Given the description of an element on the screen output the (x, y) to click on. 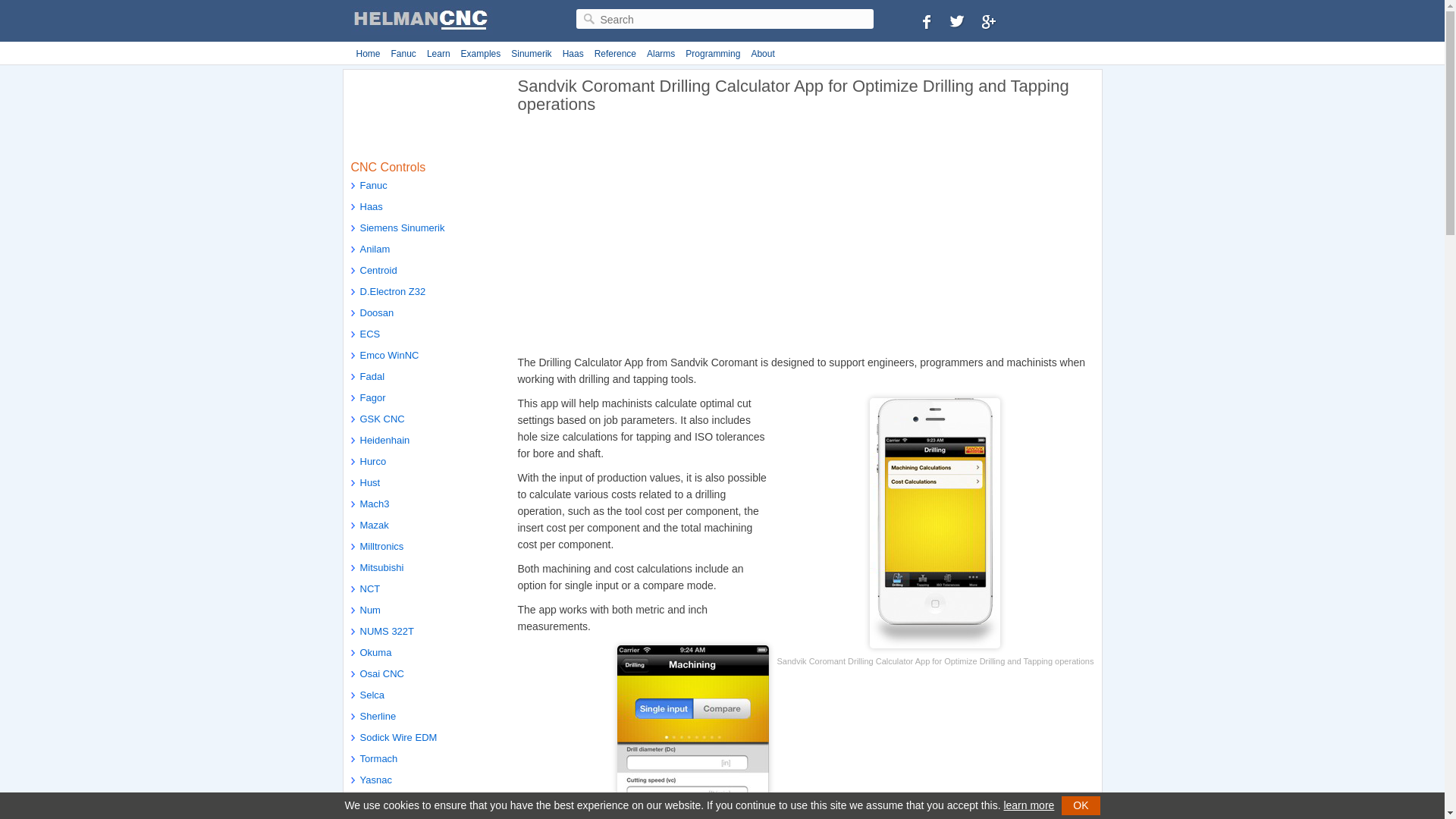
Mazak (426, 526)
Milltronics (426, 547)
Alarms (660, 54)
Selca (426, 696)
Doosan (426, 314)
Fagor (426, 399)
Centroid (426, 271)
Fanuc (426, 187)
Siemens Sinumerik (426, 229)
Num (426, 611)
Heidenhain (426, 441)
Sinumerik (530, 54)
Mitsubishi (426, 568)
NCT (426, 590)
